Given the description of an element on the screen output the (x, y) to click on. 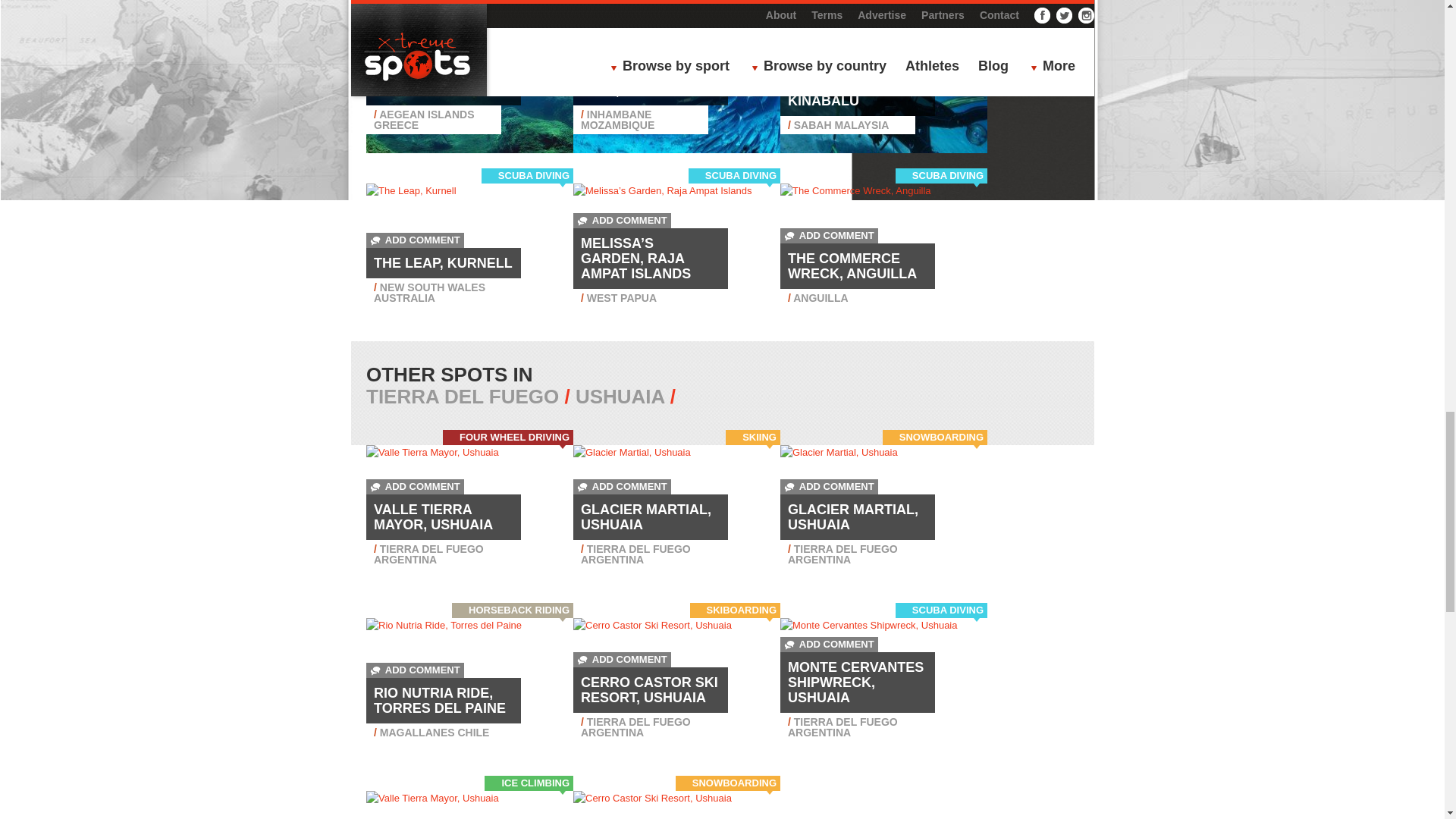
  ADD COMMENT (415, 51)
THOR STAR WRECK, PSERIMOS ISLAND (443, 82)
SCUBA DIVING (533, 4)
